Given the description of an element on the screen output the (x, y) to click on. 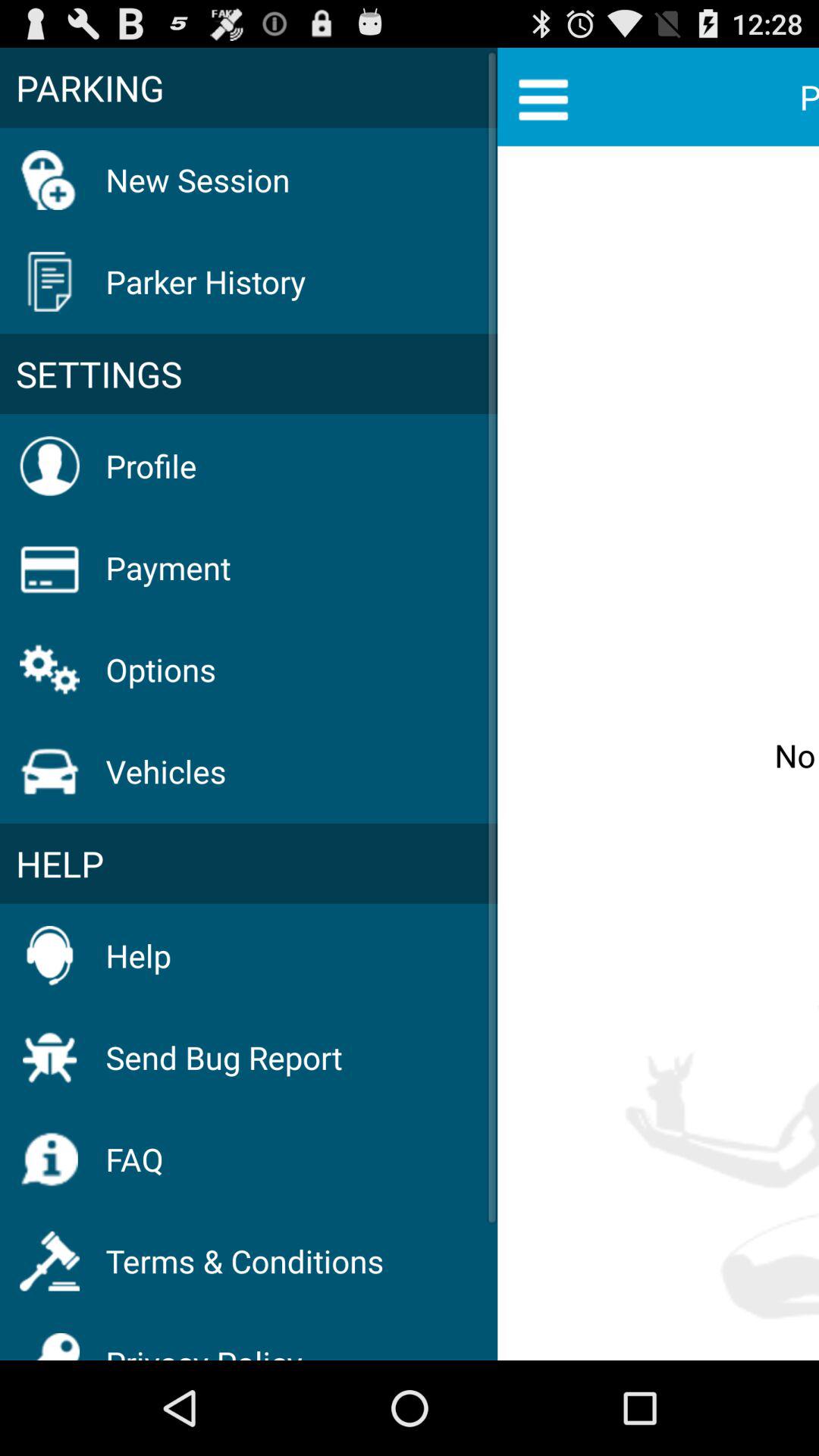
launch icon below help item (223, 1056)
